Given the description of an element on the screen output the (x, y) to click on. 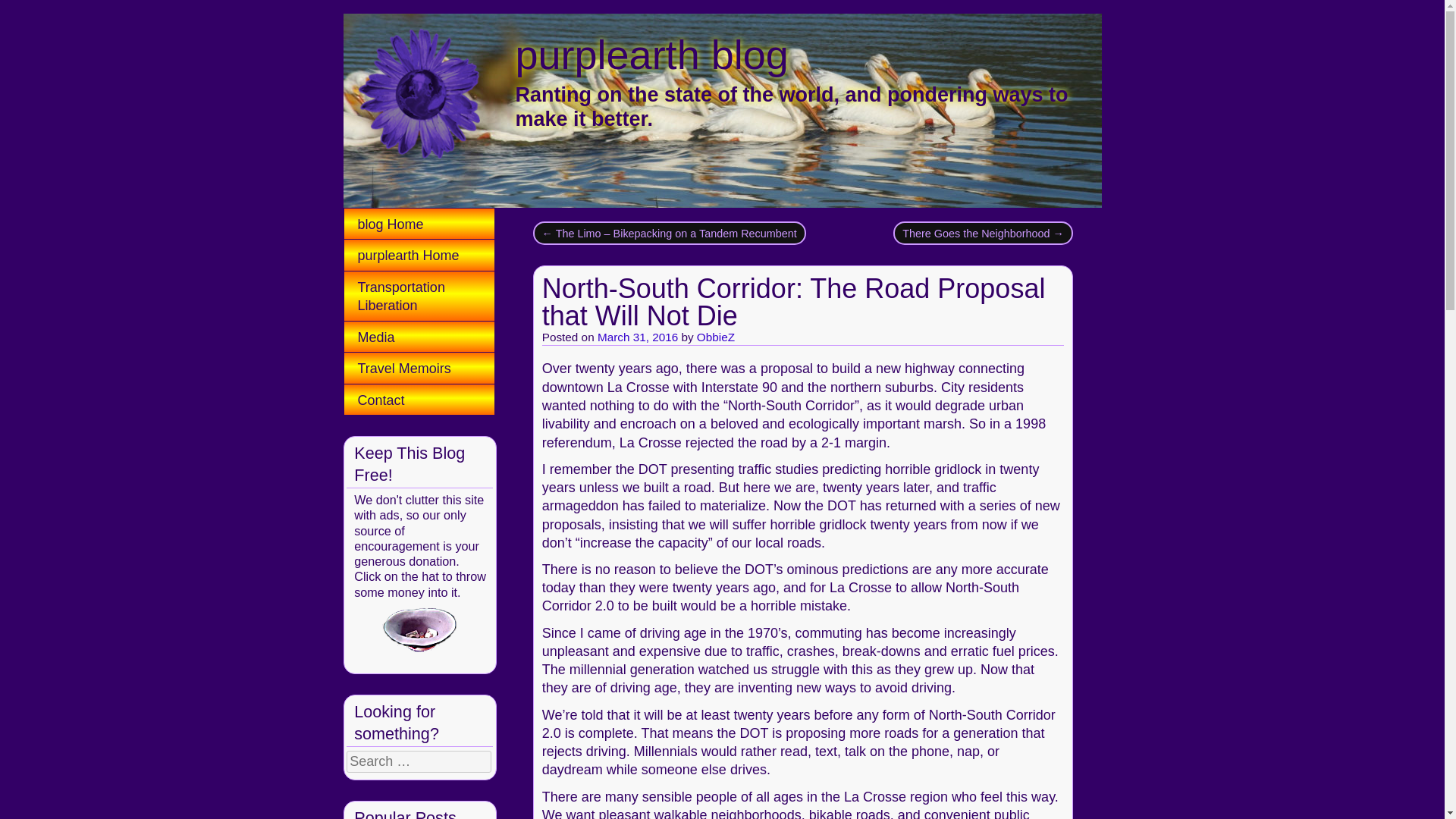
purplearth Home (419, 254)
March 31, 2016 (637, 336)
View all posts by ObbieZ (716, 336)
Skip to content (401, 223)
Transportation Liberation (419, 296)
Skip to content (401, 223)
3:19 pm (637, 336)
purplearth blog (652, 53)
purplearth blog (652, 53)
Media (419, 336)
Contact purplearth (419, 399)
ObbieZ (716, 336)
blog Home (419, 223)
Travel Memoirs (419, 367)
Search (26, 9)
